Given the description of an element on the screen output the (x, y) to click on. 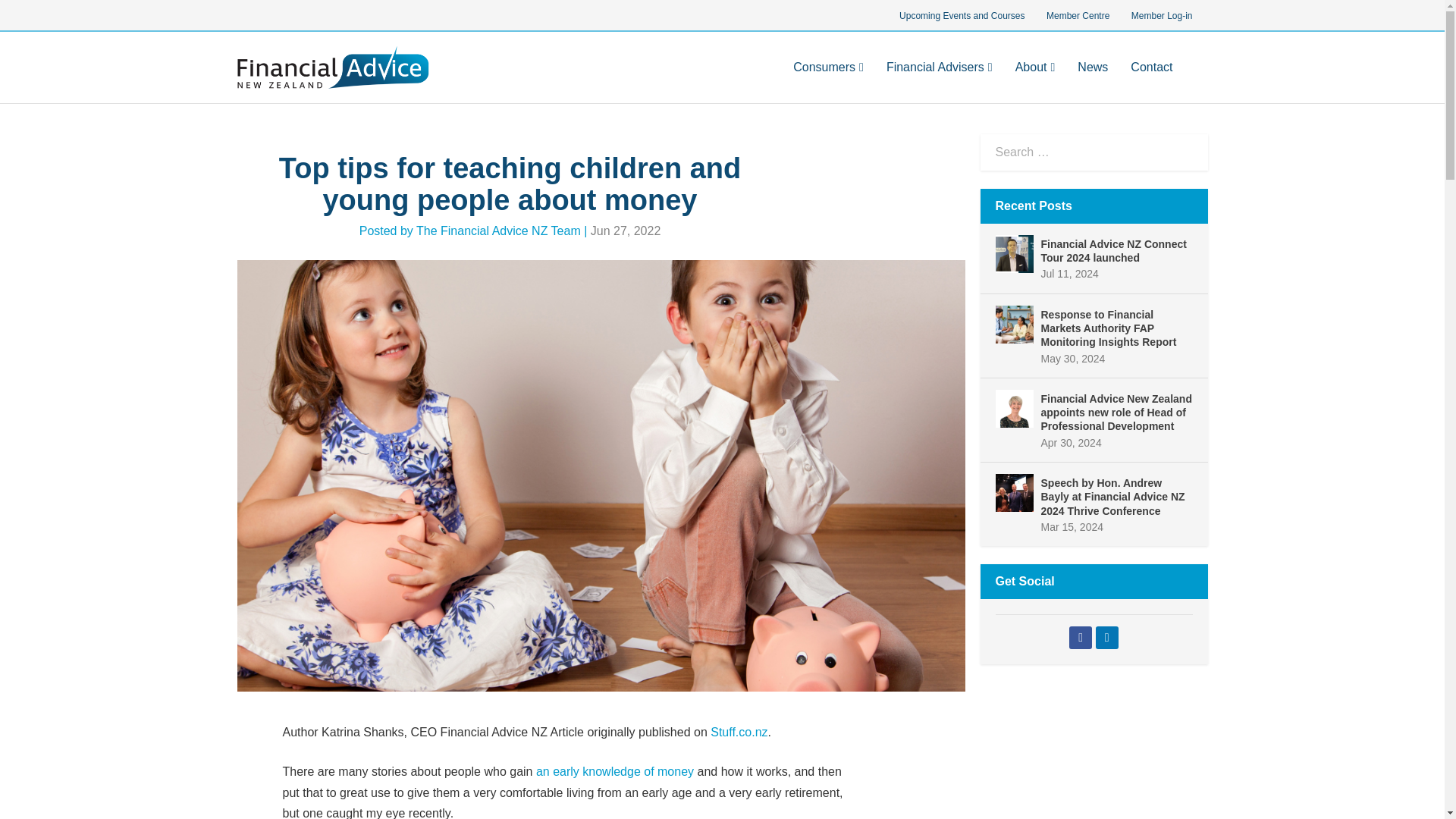
Member Centre (1076, 17)
About (1034, 82)
Upcoming Events and Courses (962, 17)
an early knowledge of money (614, 771)
Stuff.co.nz (738, 731)
The Financial Advice NZ Team (498, 230)
Financial Advisers (939, 82)
Member Log-in (1160, 17)
